Given the description of an element on the screen output the (x, y) to click on. 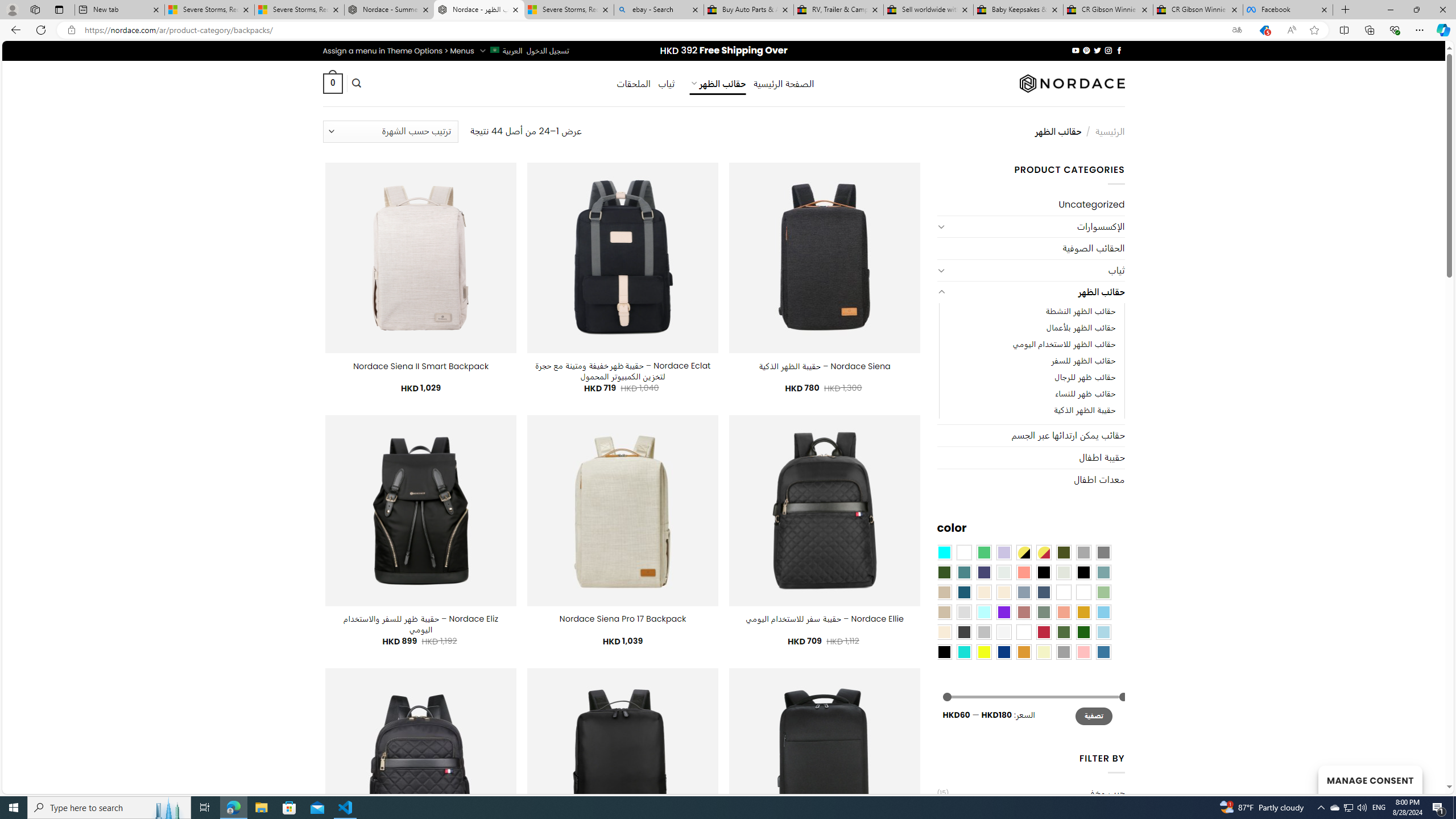
Teal (963, 572)
Assign a menu in Theme Options > Menus (397, 50)
Follow on Twitter (1096, 50)
Nordace Siena II Smart Backpack (420, 365)
